Given the description of an element on the screen output the (x, y) to click on. 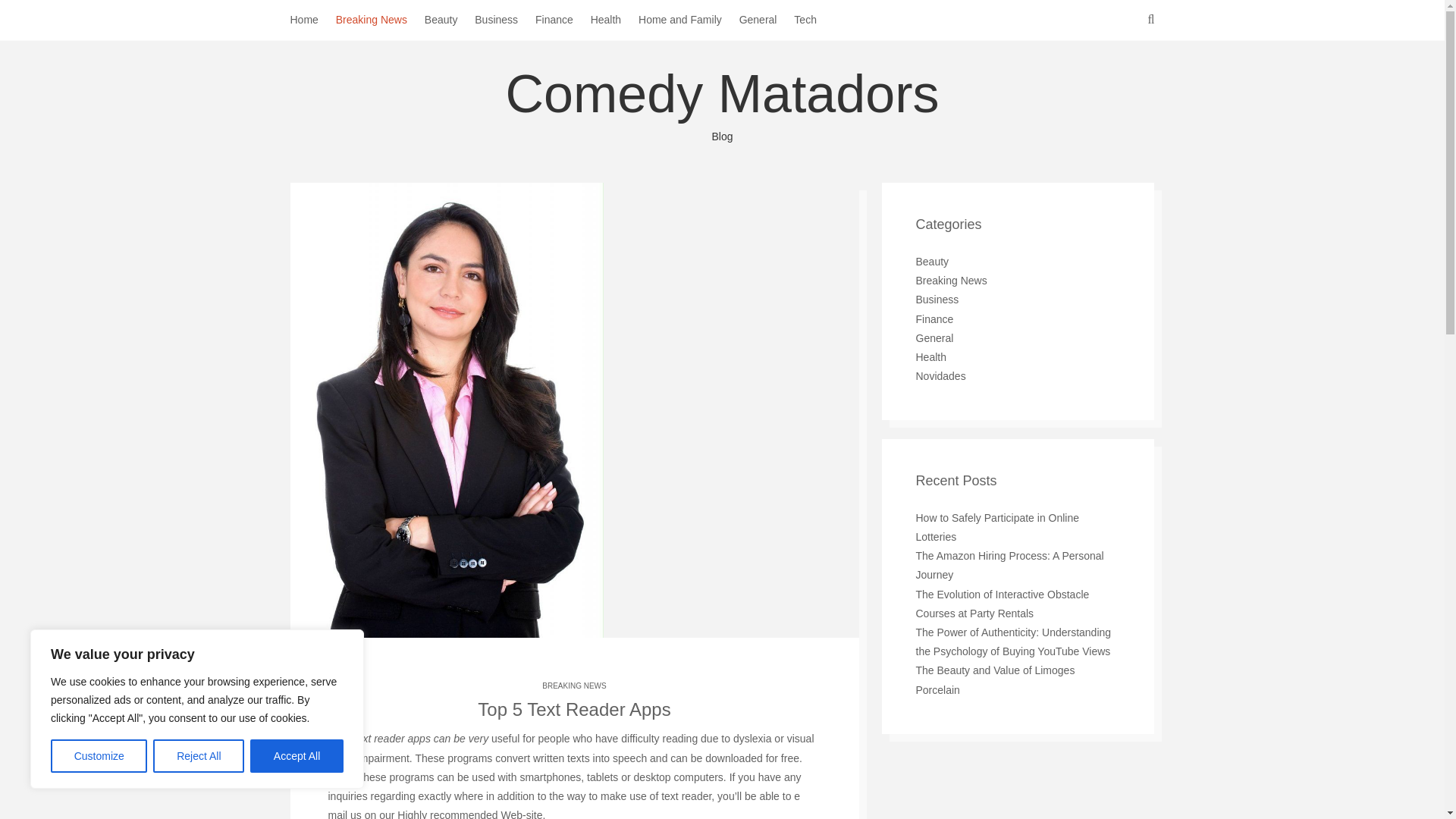
Reject All (198, 756)
Breaking News (380, 20)
Tech (813, 20)
Customize (98, 756)
Accept All (296, 756)
Home (312, 20)
Home and Family (689, 20)
Finance (563, 20)
Health (615, 20)
BREAKING NEWS (573, 685)
Business (504, 20)
General (766, 20)
Beauty (450, 20)
Highly recommended Web-site (469, 814)
text reader (686, 796)
